Given the description of an element on the screen output the (x, y) to click on. 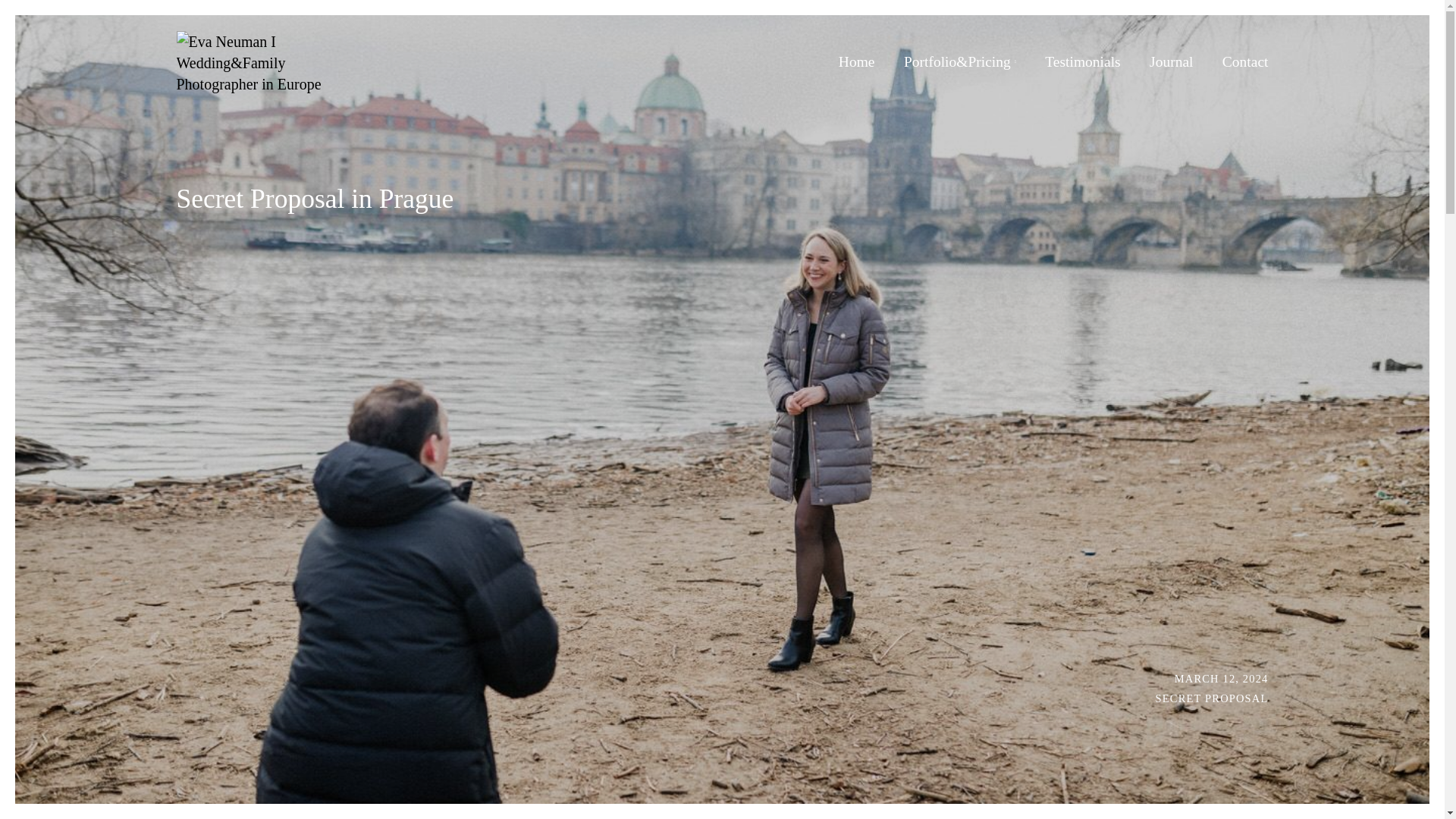
Journal (1171, 61)
Contact (1245, 61)
Home (856, 61)
SECRET PROPOSAL (1212, 697)
Testimonials (1082, 61)
